Given the description of an element on the screen output the (x, y) to click on. 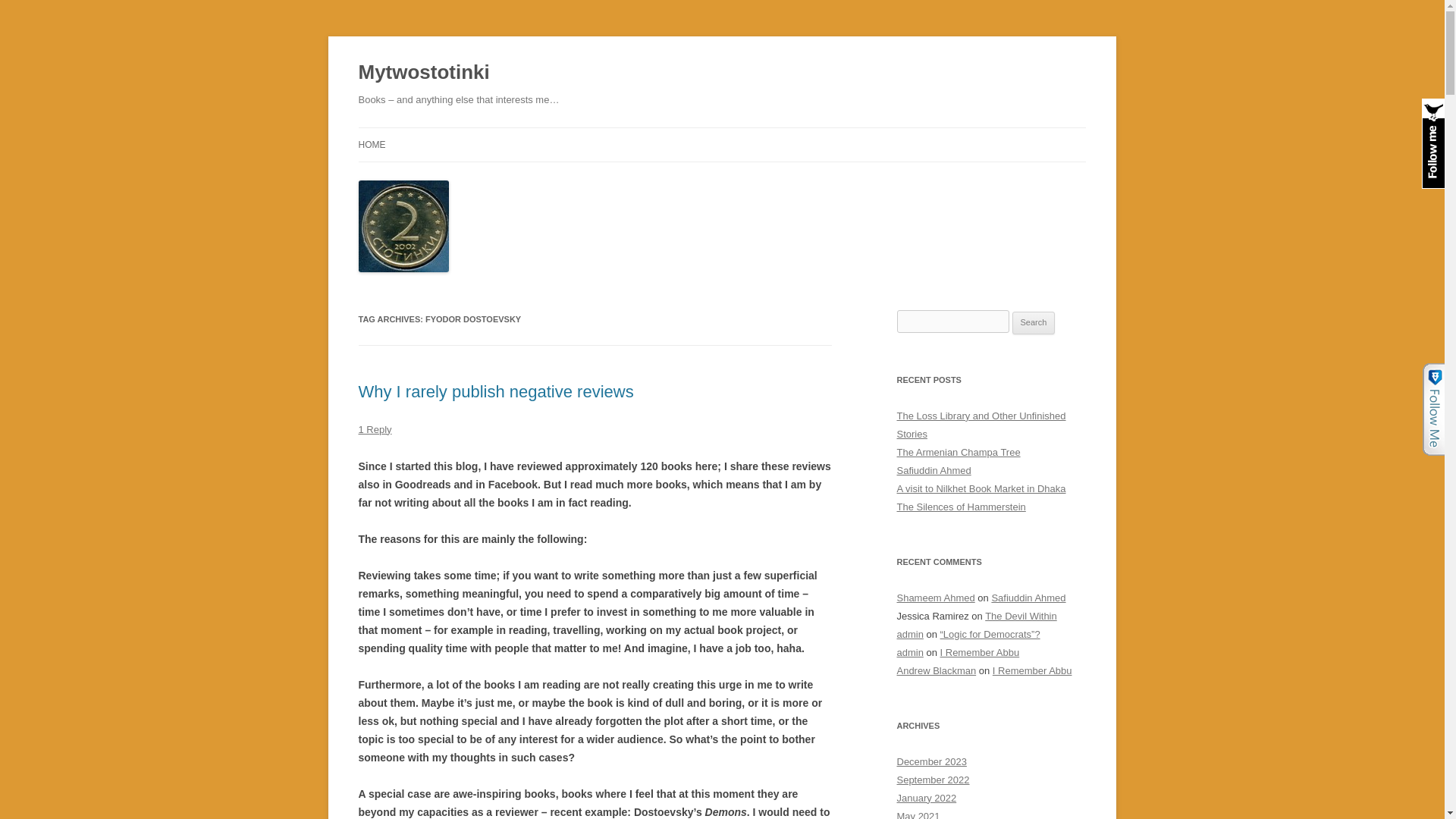
Why I rarely publish negative reviews (495, 391)
HOME (371, 144)
1 Reply (374, 429)
Mytwostotinki (423, 72)
Search (1033, 323)
Mytwostotinki (423, 72)
